Given the description of an element on the screen output the (x, y) to click on. 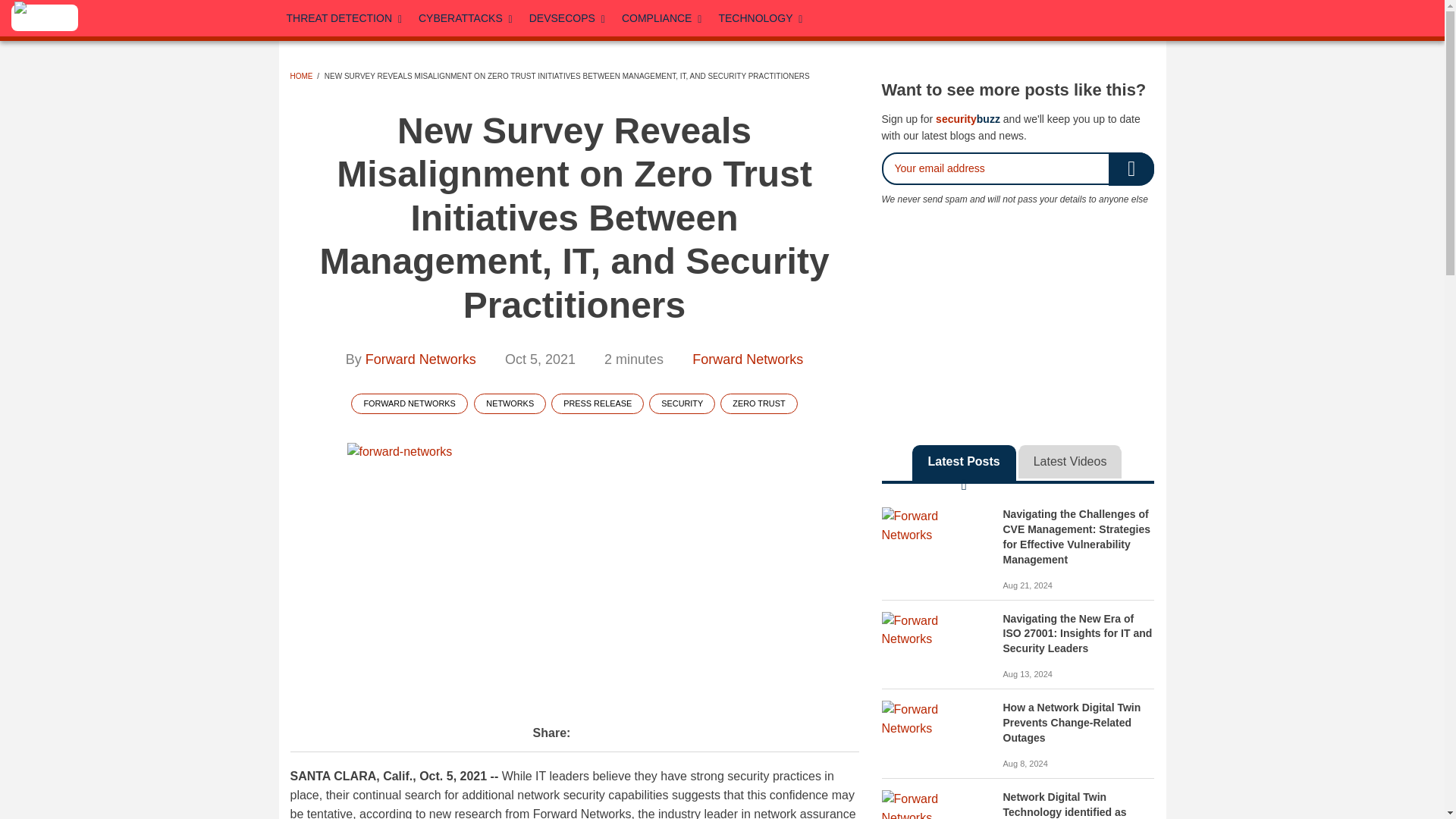
Forward Networks (933, 630)
CYBERATTACKS (465, 18)
Forward Networks (933, 525)
Home (44, 17)
Forward Networks (933, 804)
Subscribe (1131, 168)
forward-networks (574, 571)
Forward Networks (933, 719)
linkedin (997, 15)
